Given the description of an element on the screen output the (x, y) to click on. 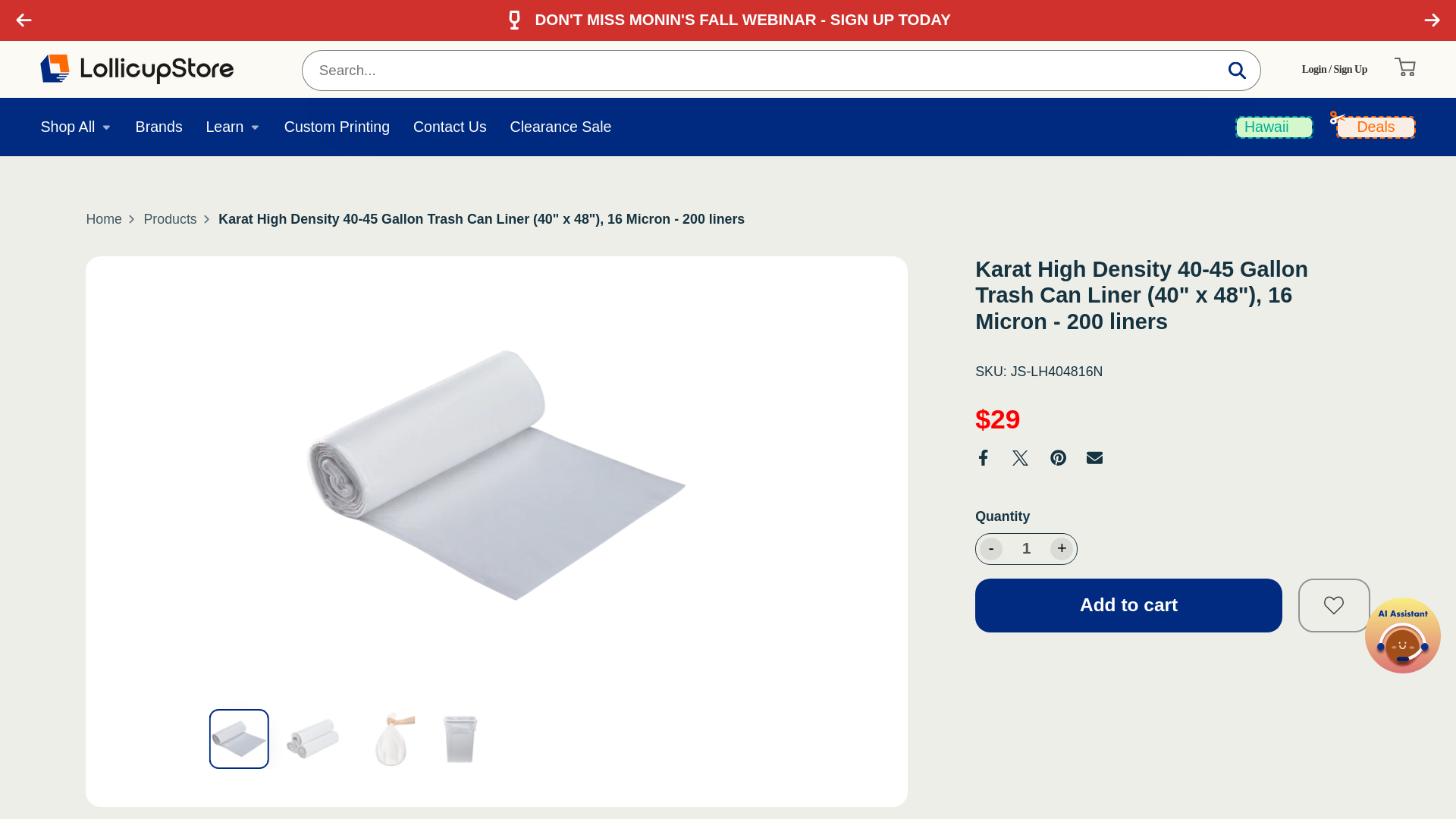
1 (1026, 547)
- (991, 548)
Account (1334, 69)
Shop All (76, 126)
Logo (136, 69)
